Given the description of an element on the screen output the (x, y) to click on. 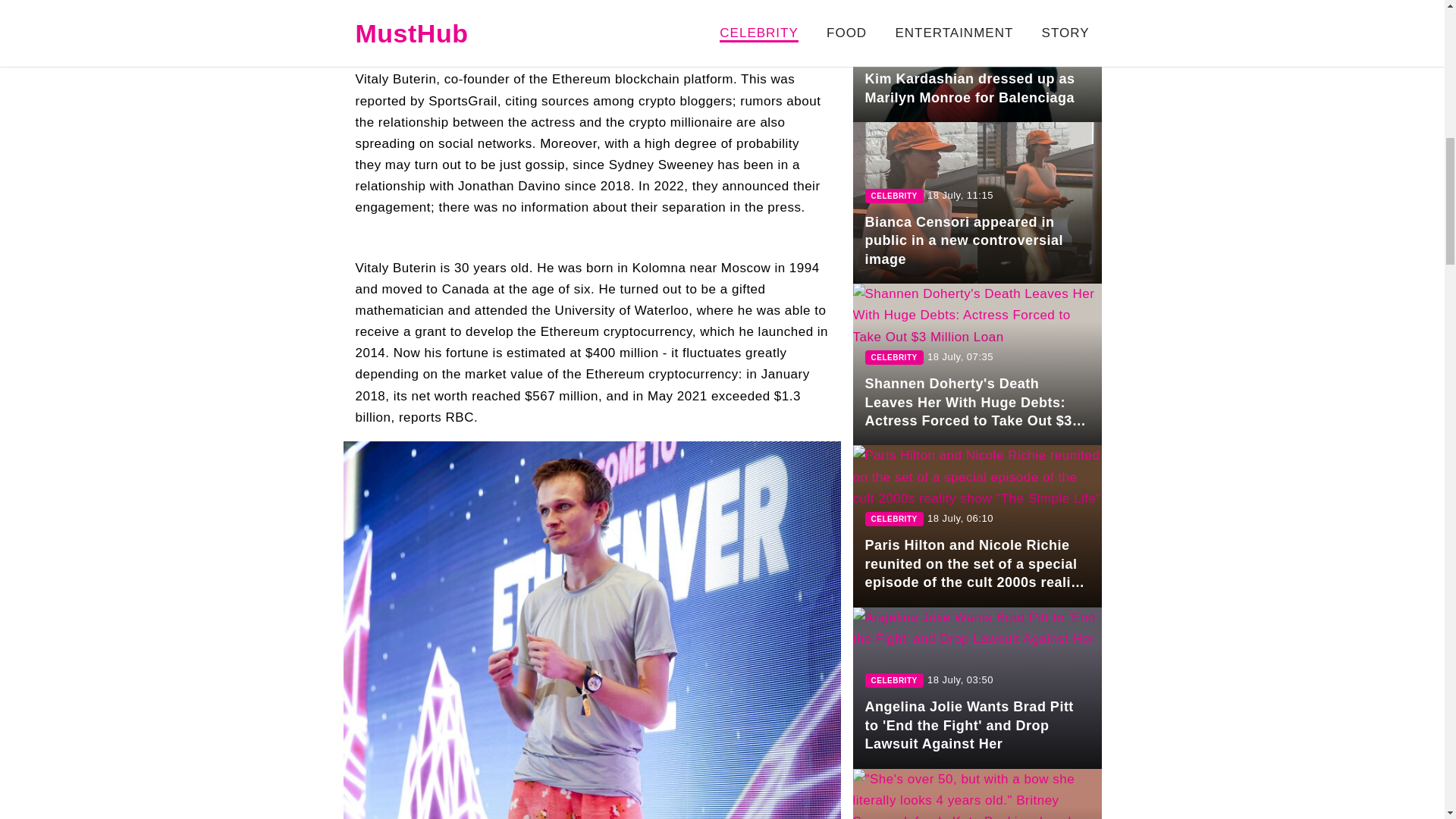
Kim Kardashian dressed up as Marilyn Monroe for Balenciaga (975, 61)
